Given the description of an element on the screen output the (x, y) to click on. 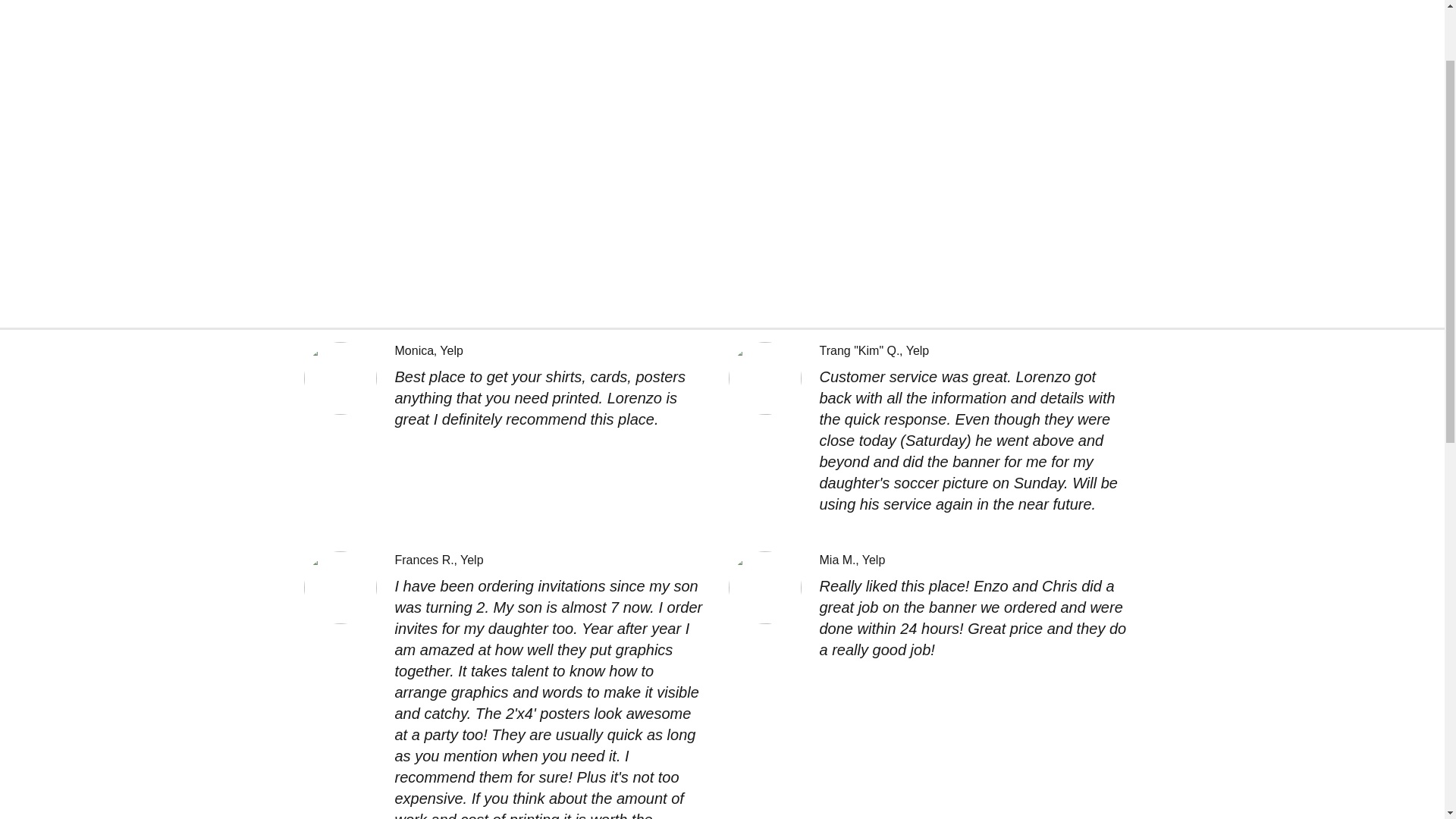
Location Element type: text (90, 39)
Contact us Element type: text (167, 39)
Store Element type: text (28, 39)
